Given the description of an element on the screen output the (x, y) to click on. 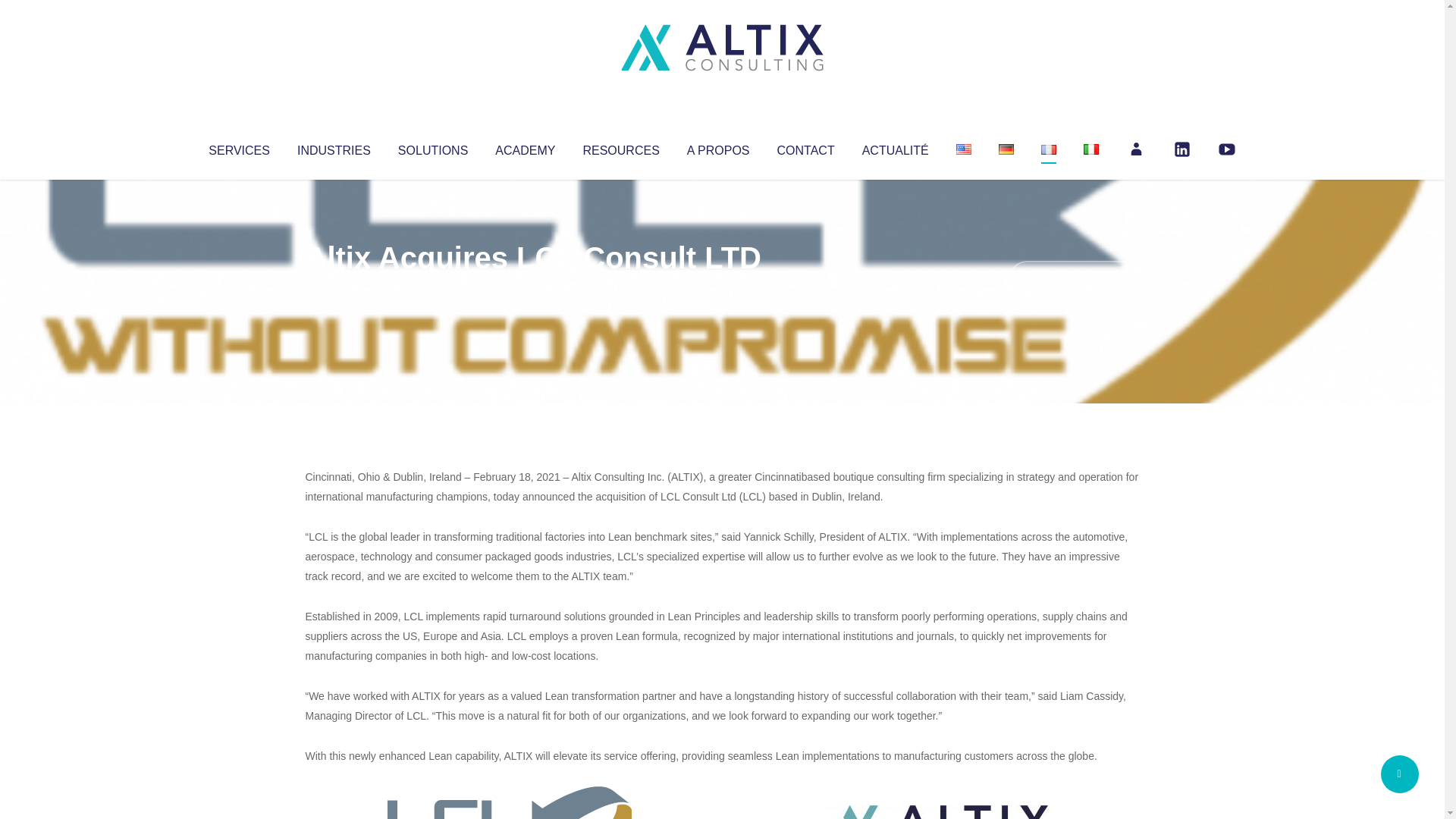
RESOURCES (620, 146)
ACADEMY (524, 146)
A PROPOS (718, 146)
INDUSTRIES (334, 146)
SERVICES (238, 146)
SOLUTIONS (432, 146)
Uncategorized (530, 287)
Articles par Altix (333, 287)
No Comments (1073, 278)
Altix (333, 287)
